Given the description of an element on the screen output the (x, y) to click on. 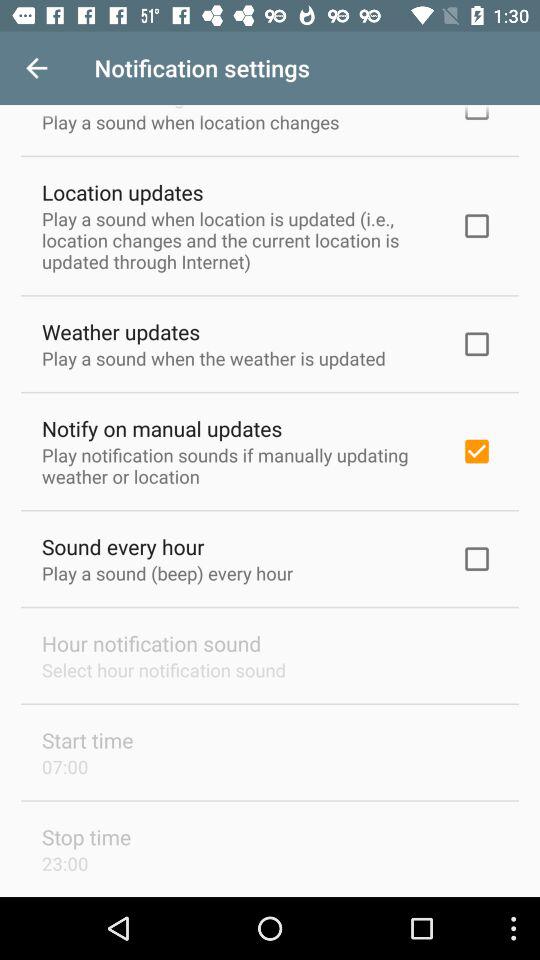
jump to the stop time item (86, 836)
